Given the description of an element on the screen output the (x, y) to click on. 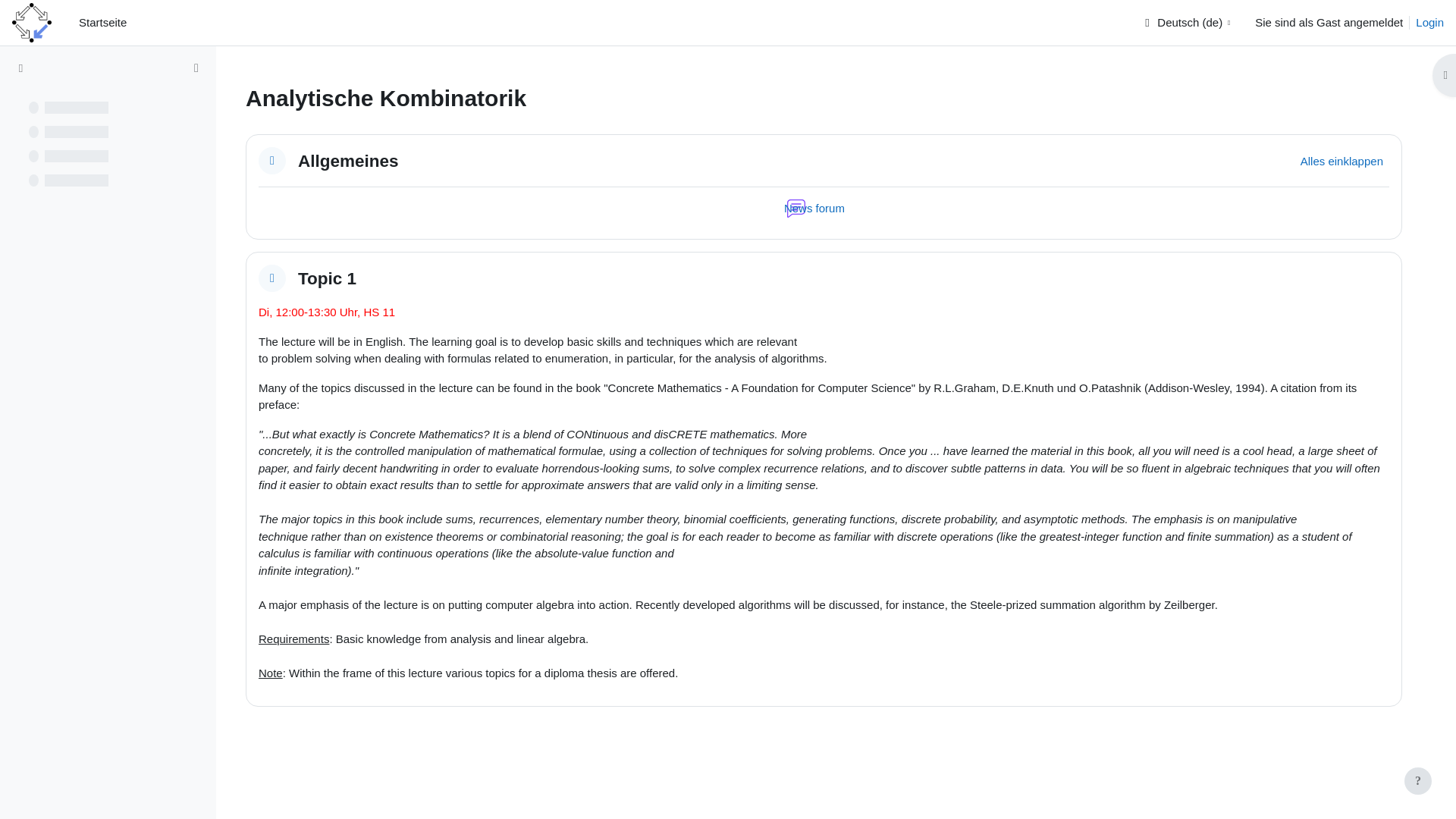
Startseite (102, 22)
Topic 1 (327, 278)
Einklappen (272, 160)
Einklappen (272, 278)
Alles einklappen (1341, 161)
Allgemeines (348, 159)
Login (1429, 22)
News forum (815, 207)
